Given the description of an element on the screen output the (x, y) to click on. 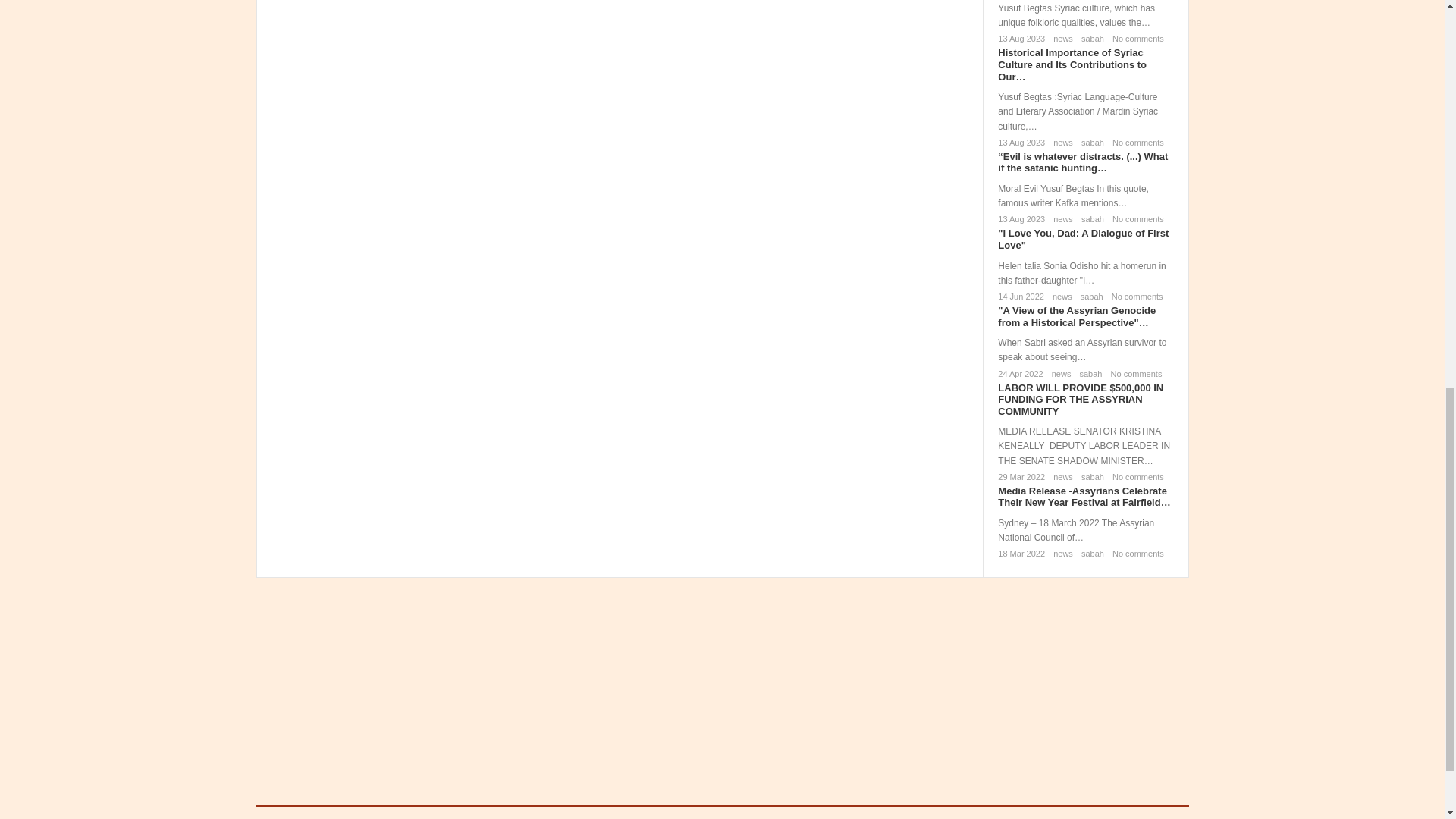
I Love You, Dad: A Dialogue of First Love (1083, 238)
